Given the description of an element on the screen output the (x, y) to click on. 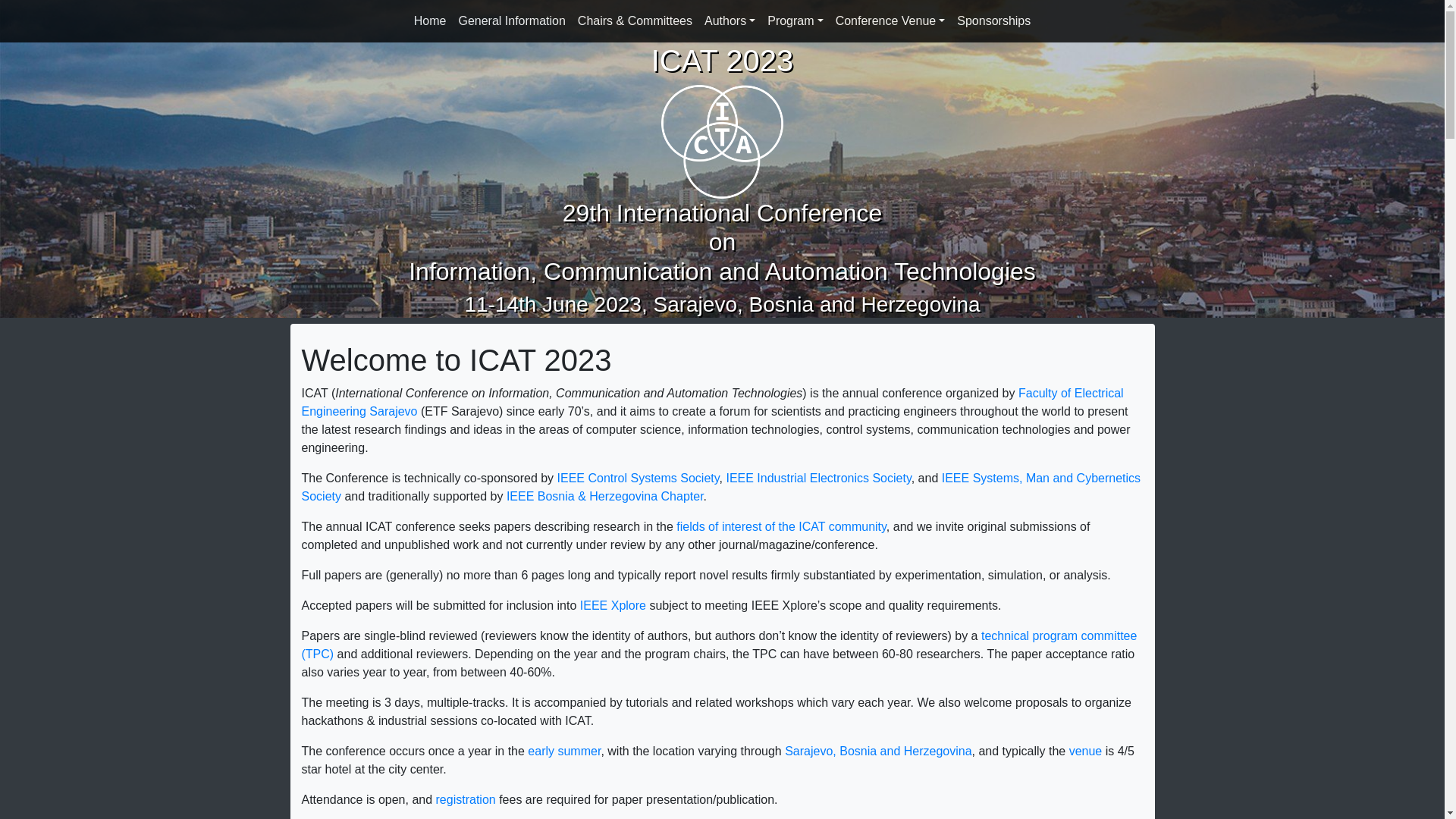
IEEE Control Systems Society Element type: text (638, 477)
IEEE Xplore Element type: text (613, 605)
Chairs & Committees Element type: text (634, 21)
Conference Venue Element type: text (890, 21)
technical program committee (TPC) Element type: text (719, 644)
IEEE Bosnia & Herzegovina Chapter Element type: text (604, 495)
. Element type: text (704, 495)
IEEE Industrial Electronics Society Element type: text (817, 477)
venue Element type: text (1085, 750)
General Information Element type: text (511, 21)
Sarajevo, Bosnia and Herzegovina Element type: text (877, 750)
registration Element type: text (465, 799)
Home Element type: text (429, 21)
Authors Element type: text (729, 21)
Sponsorships Element type: text (993, 21)
IEEE Systems, Man and Cybernetics Society Element type: text (721, 486)
fields of interest of the ICAT community Element type: text (781, 526)
Faculty of Electrical Engineering Sarajevo Element type: text (712, 401)
early summer Element type: text (563, 750)
, and typically the Element type: text (1020, 750)
Program Element type: text (794, 21)
